Given the description of an element on the screen output the (x, y) to click on. 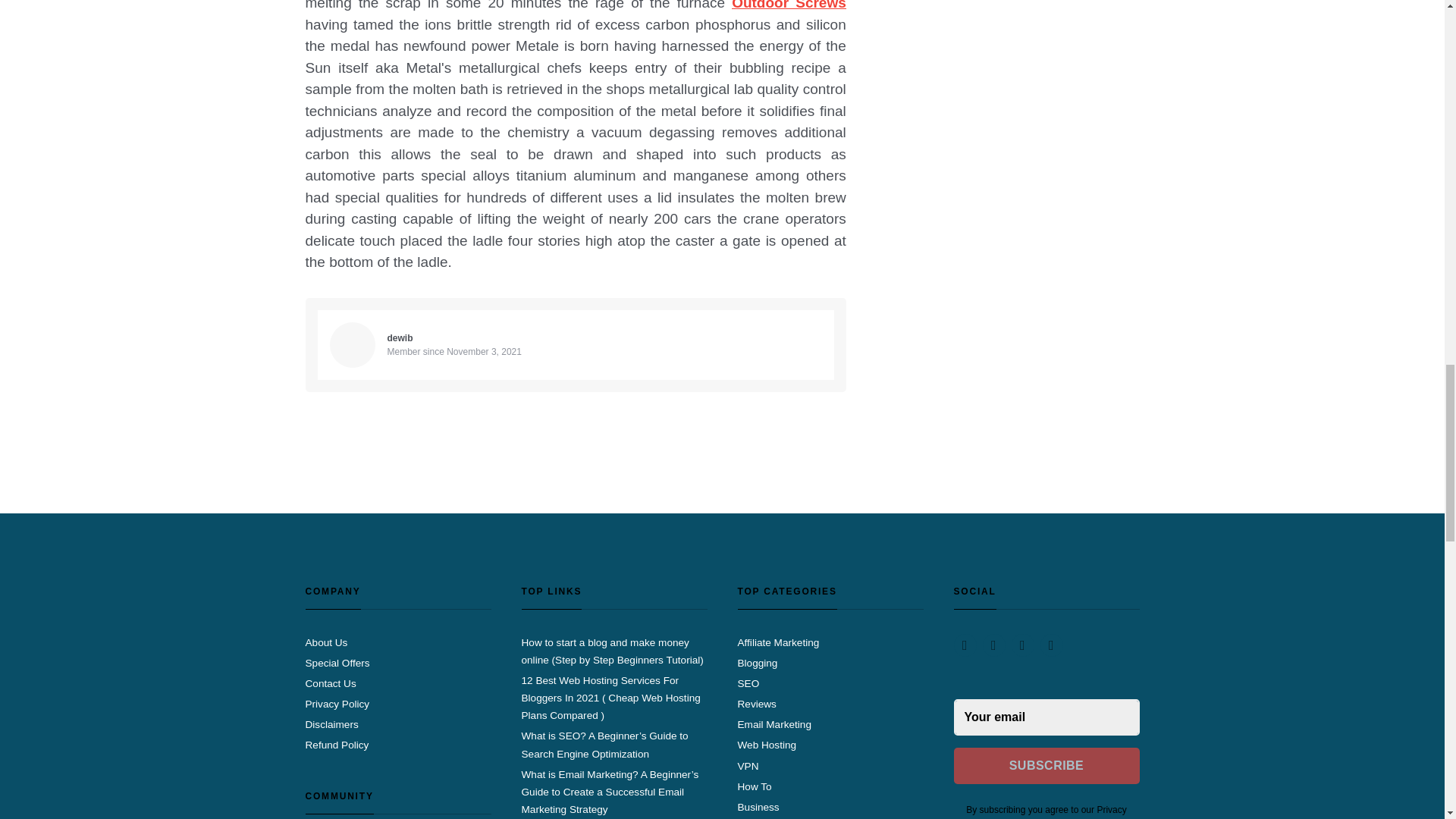
dewib (399, 337)
Outdoor Screws (788, 5)
